Given the description of an element on the screen output the (x, y) to click on. 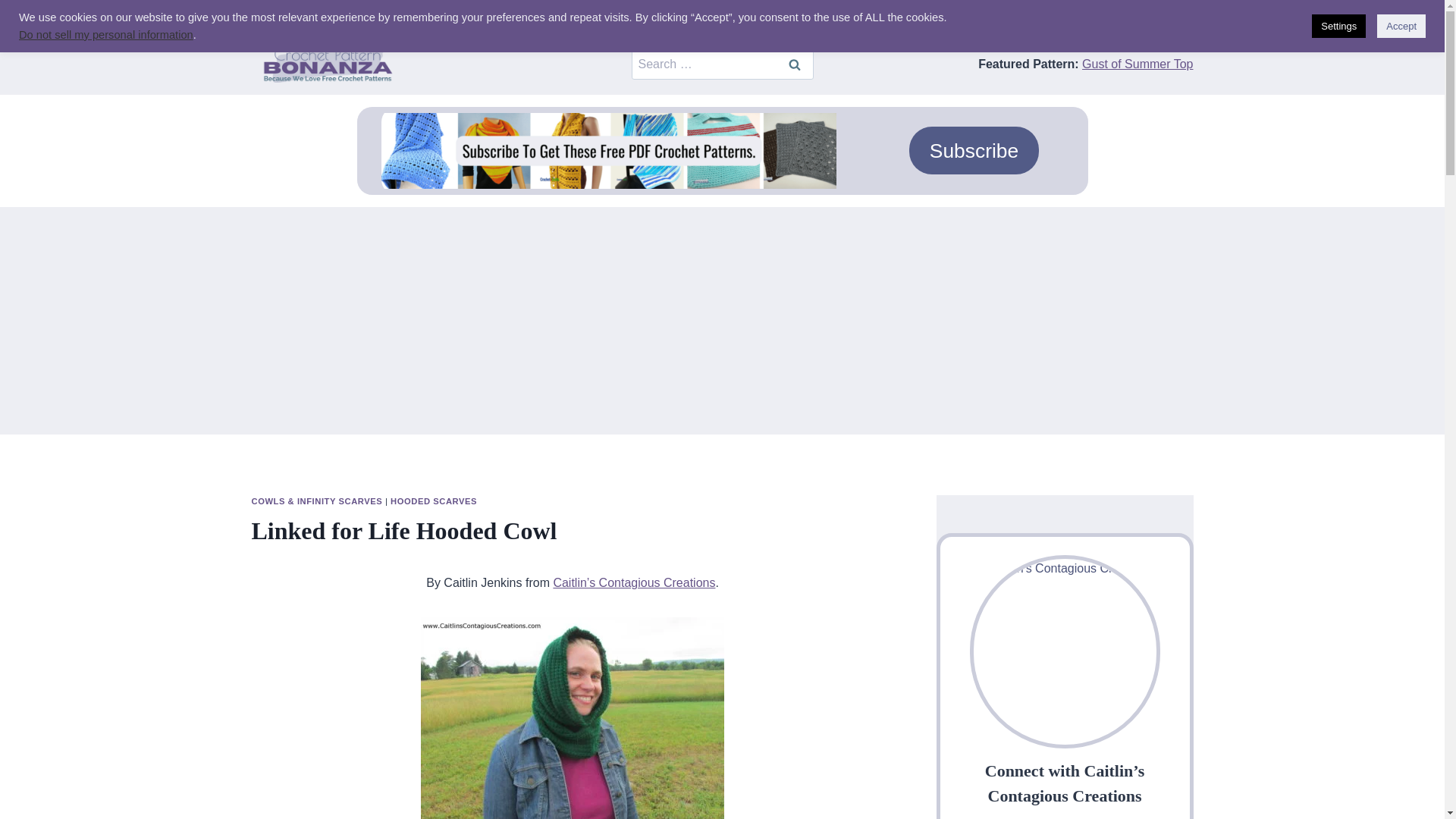
Search (793, 64)
Search (793, 64)
Accessories (297, 17)
